Given the description of an element on the screen output the (x, y) to click on. 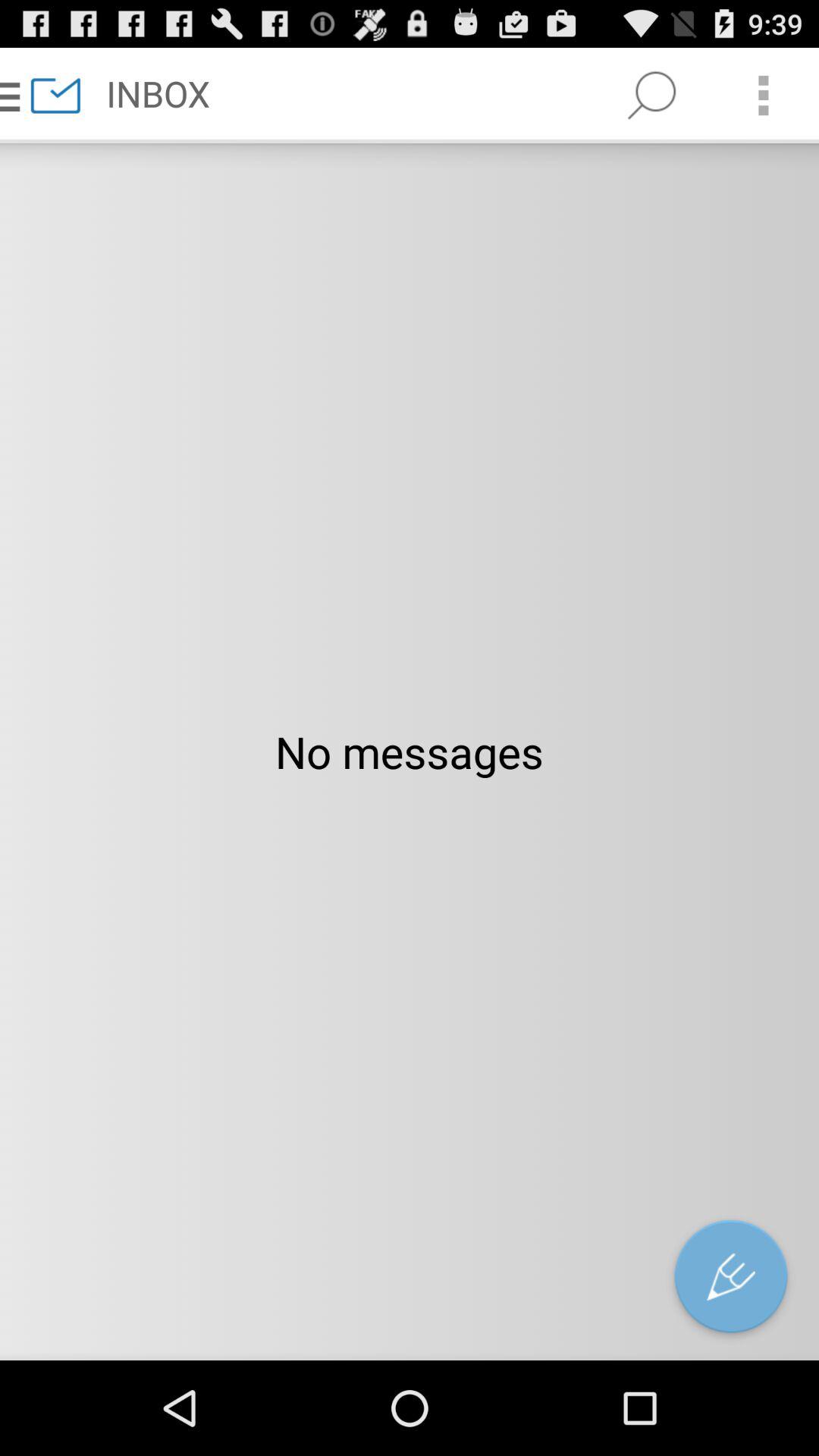
launch icon next to the inbox item (651, 95)
